Given the description of an element on the screen output the (x, y) to click on. 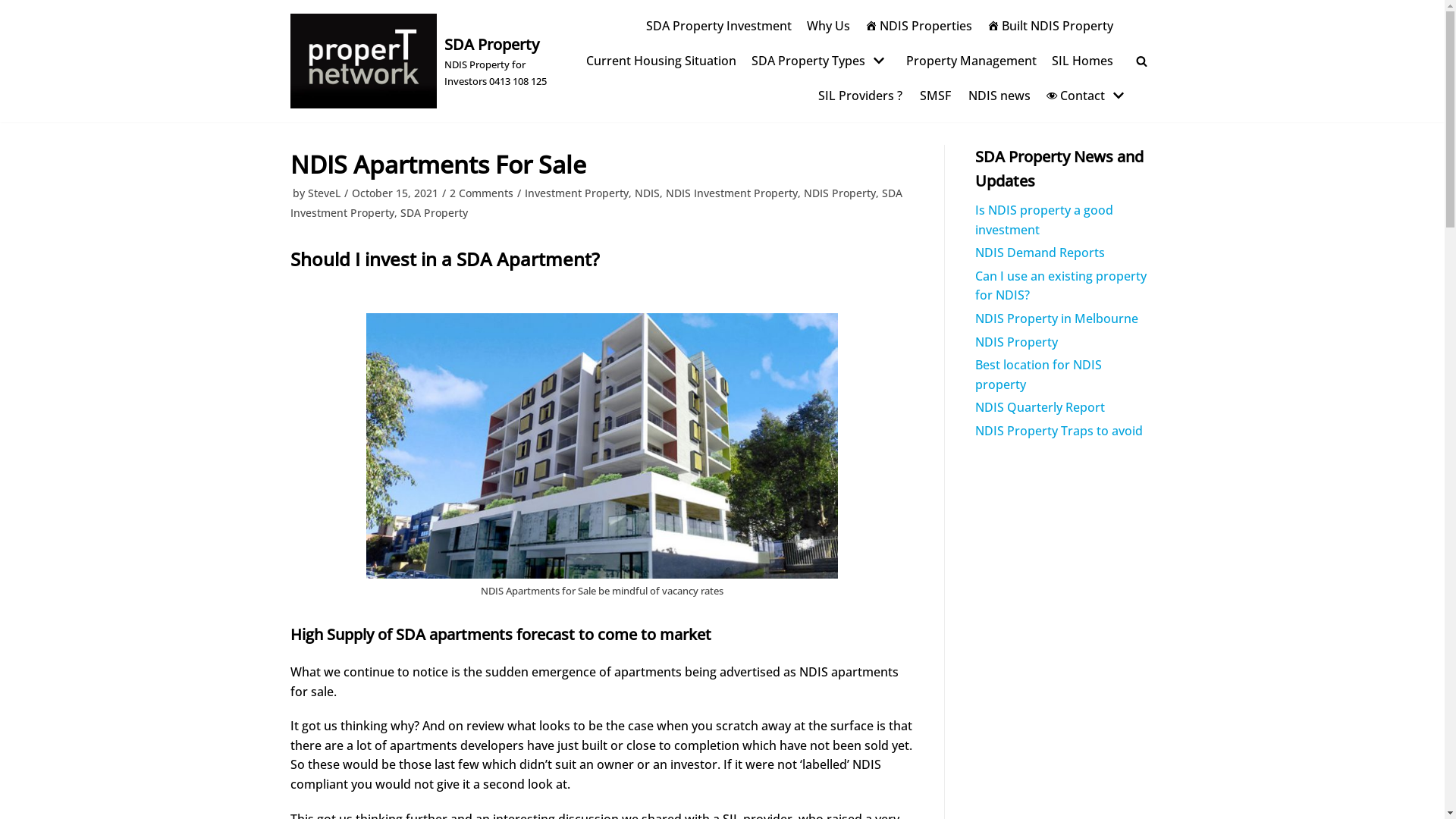
NDIS Property Element type: text (839, 192)
Property Management Element type: text (969, 61)
SDA Property
NDIS Property for Investors 0413 108 125 Element type: text (425, 60)
NDIS-Apartments | SDA Property Element type: hover (601, 445)
NDIS Property Element type: text (1016, 341)
NDIS Property in Melbourne Element type: text (1056, 318)
SDA Investment Property Element type: text (595, 202)
Current Housing Situation Element type: text (660, 61)
NDIS Investment Property Element type: text (731, 192)
properT network | SDA Property Element type: hover (362, 60)
Can I use an existing property for NDIS? Element type: text (1060, 285)
Best location for NDIS property Element type: text (1038, 374)
SIL Homes Element type: text (1081, 61)
Built NDIS Property Element type: text (1050, 26)
SteveL Element type: text (323, 192)
NDIS Properties Element type: text (917, 26)
NDIS Quarterly Report Element type: text (1039, 406)
Investment Property Element type: text (576, 192)
SDA Property Investment Element type: text (718, 26)
NDIS Element type: text (645, 192)
NDIS news Element type: text (998, 96)
SIL Providers ? Element type: text (859, 96)
Is NDIS property a good investment Element type: text (1044, 219)
Contact Element type: text (1085, 95)
SDA Property Element type: text (433, 212)
SMSF Element type: text (933, 96)
Skip to content Element type: text (15, 7)
NDIS Demand Reports Element type: text (1039, 252)
Why Us Element type: text (828, 26)
SDA Property Types Element type: text (819, 60)
2 Comments Element type: text (480, 192)
NDIS Property Traps to avoid Element type: text (1058, 430)
